Given the description of an element on the screen output the (x, y) to click on. 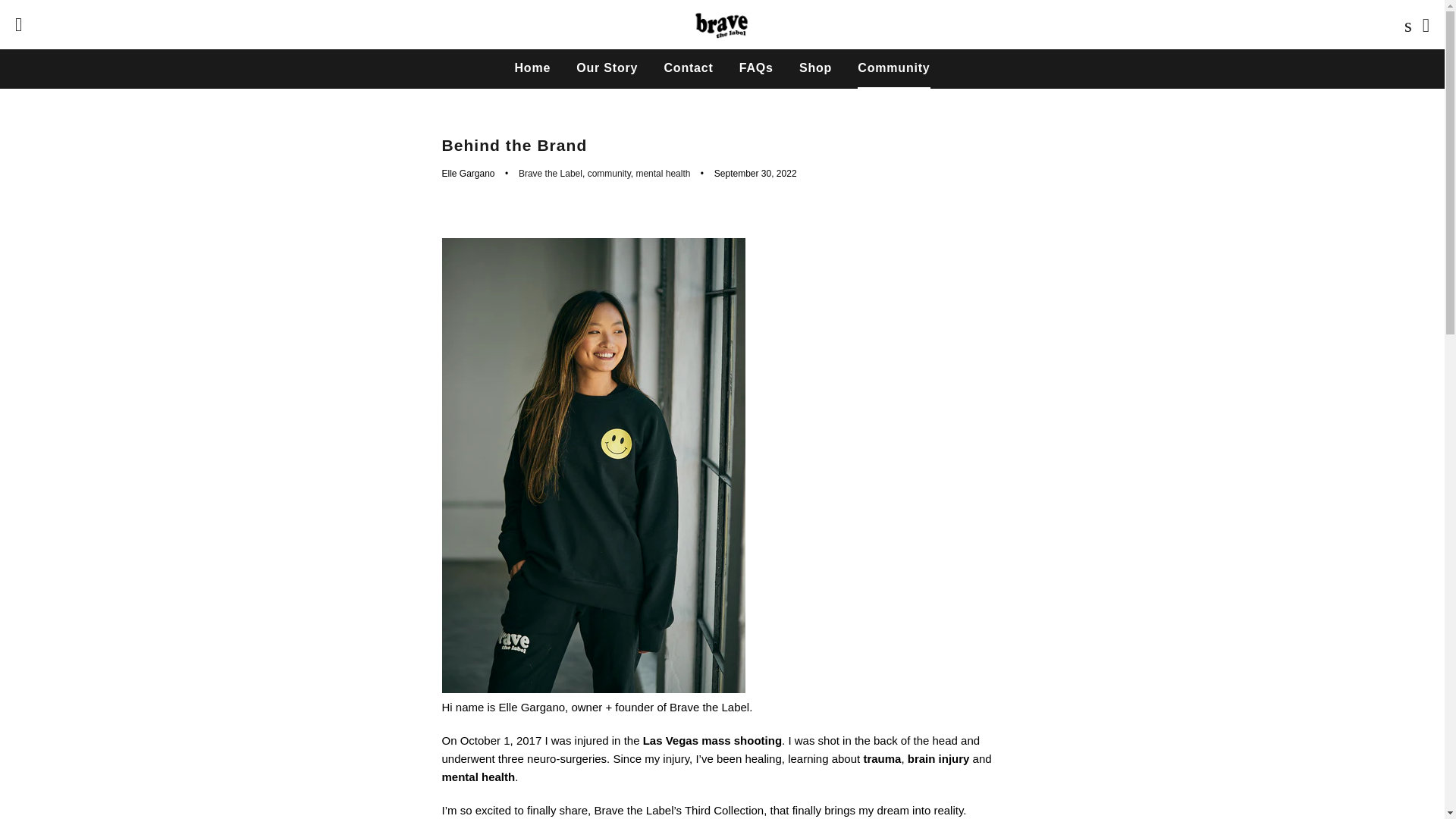
community (609, 173)
FAQs (756, 67)
Contact (687, 67)
Shop (815, 67)
Brave the Label (550, 173)
Community (892, 67)
Home (532, 67)
Our Story (606, 67)
mental health (662, 173)
